Given the description of an element on the screen output the (x, y) to click on. 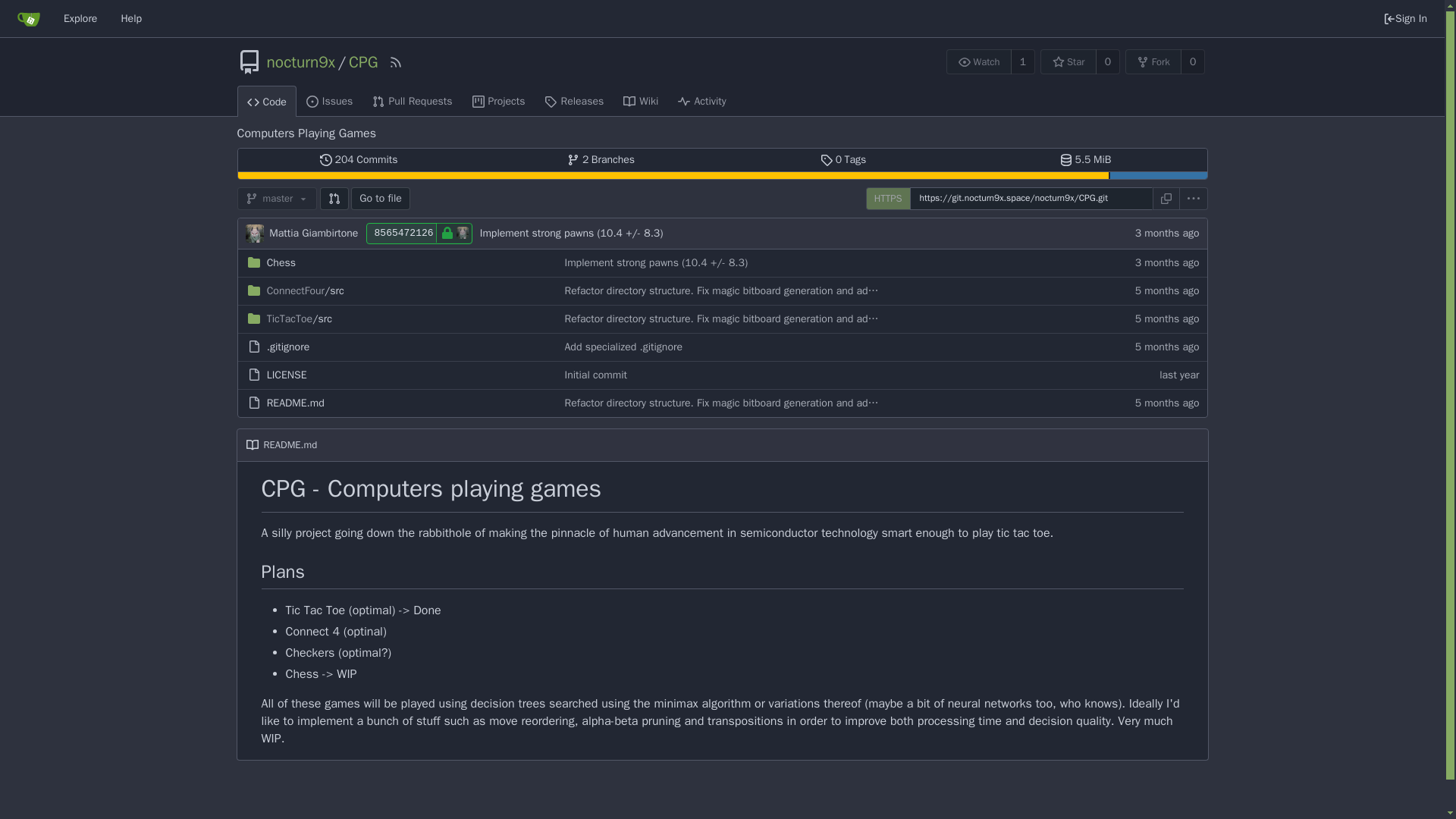
1 (1022, 61)
Pull Requests (411, 101)
Mattia Giambirtone (313, 233)
Releases (573, 101)
Projects (499, 101)
Wiki (640, 101)
LICENSE (286, 374)
master (276, 198)
0 (1107, 61)
nocturn9x (301, 61)
